Given the description of an element on the screen output the (x, y) to click on. 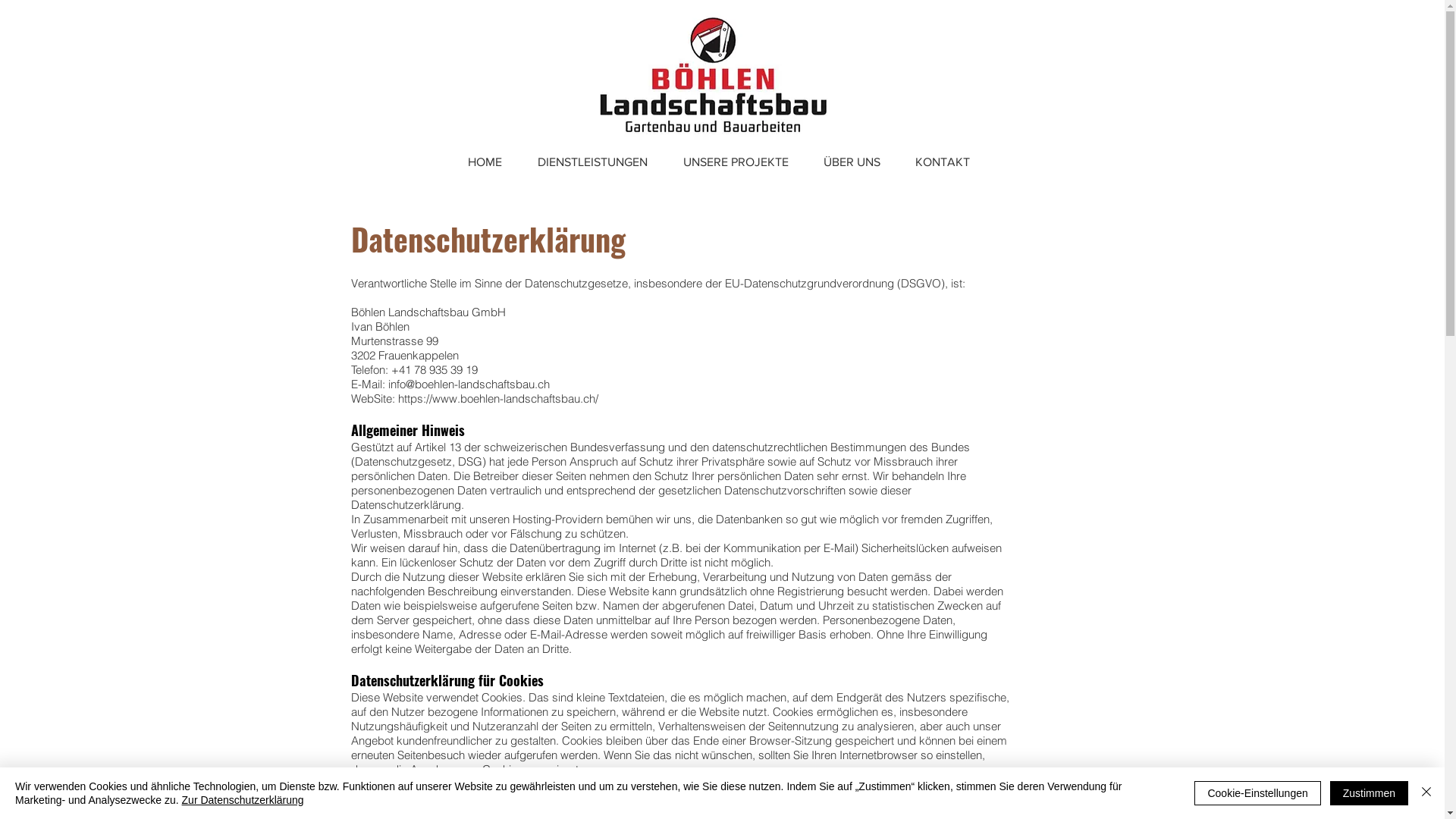
HOME Element type: text (485, 162)
http://www.aboutads.info/choices/ Element type: text (824, 797)
DIENSTLEISTUNGEN Element type: text (592, 162)
info@boehlen-landschaftsbau.ch Element type: text (468, 383)
UNSERE PROJEKTE Element type: text (735, 162)
Cookie-Einstellungen Element type: text (1257, 793)
KONTAKT Element type: text (942, 162)
Zustimmen Element type: text (1369, 793)
